Given the description of an element on the screen output the (x, y) to click on. 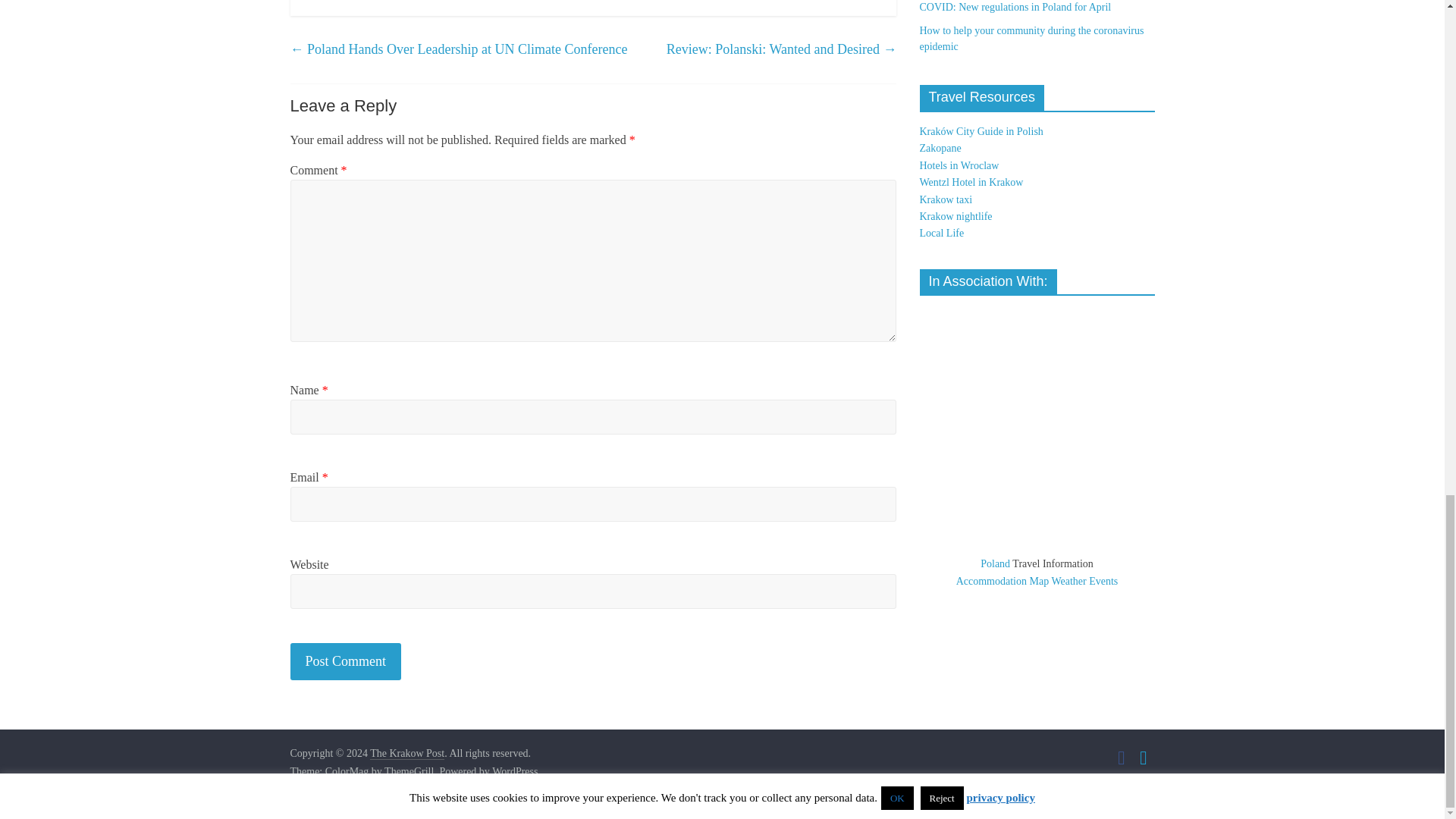
ColorMag (346, 771)
WordPress (514, 771)
The Krakow Post (406, 753)
Post Comment (345, 661)
